Given the description of an element on the screen output the (x, y) to click on. 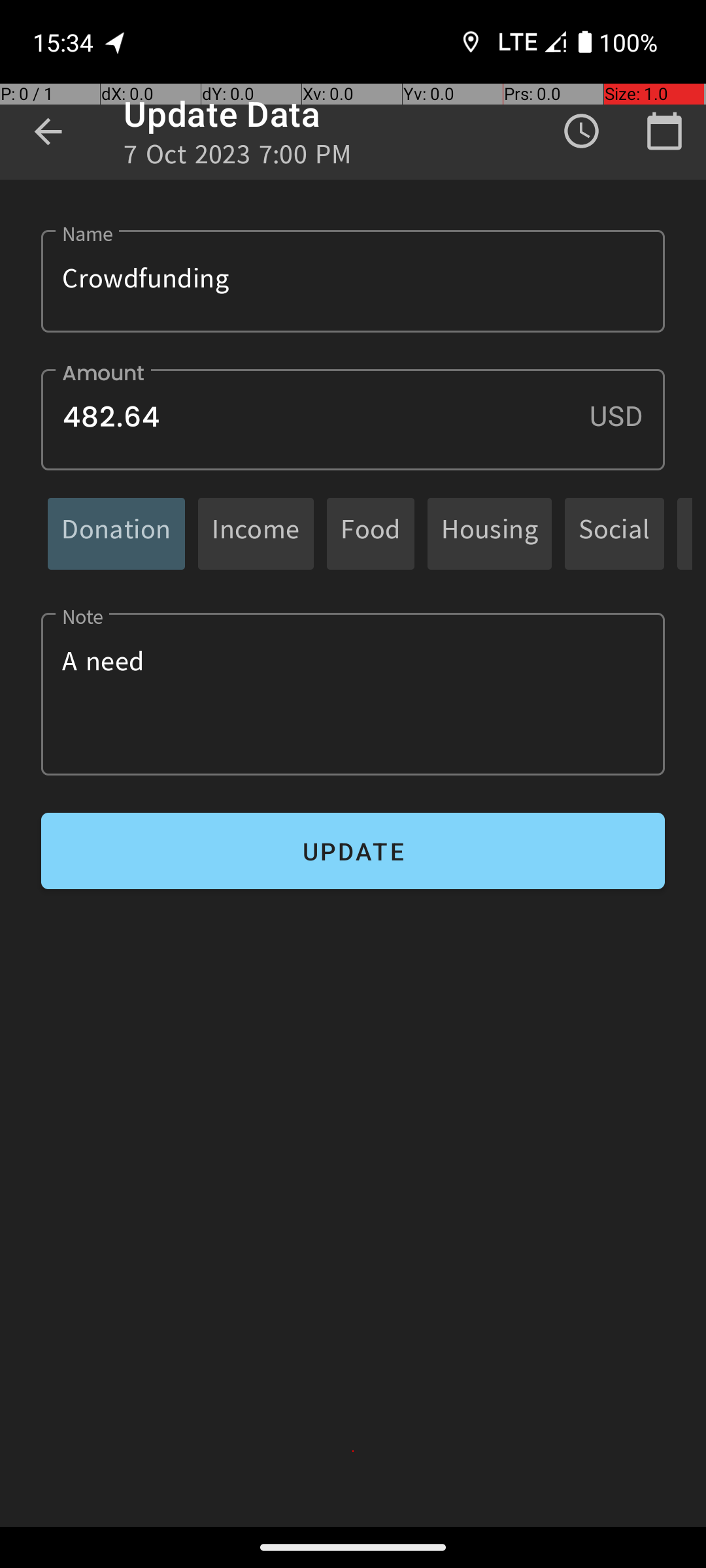
7 Oct 2023 7:00 PM Element type: android.widget.TextView (237, 157)
Crowdfunding Element type: android.widget.EditText (352, 280)
482.64 Element type: android.widget.EditText (352, 419)
Donation Element type: android.widget.TextView (116, 533)
